Given the description of an element on the screen output the (x, y) to click on. 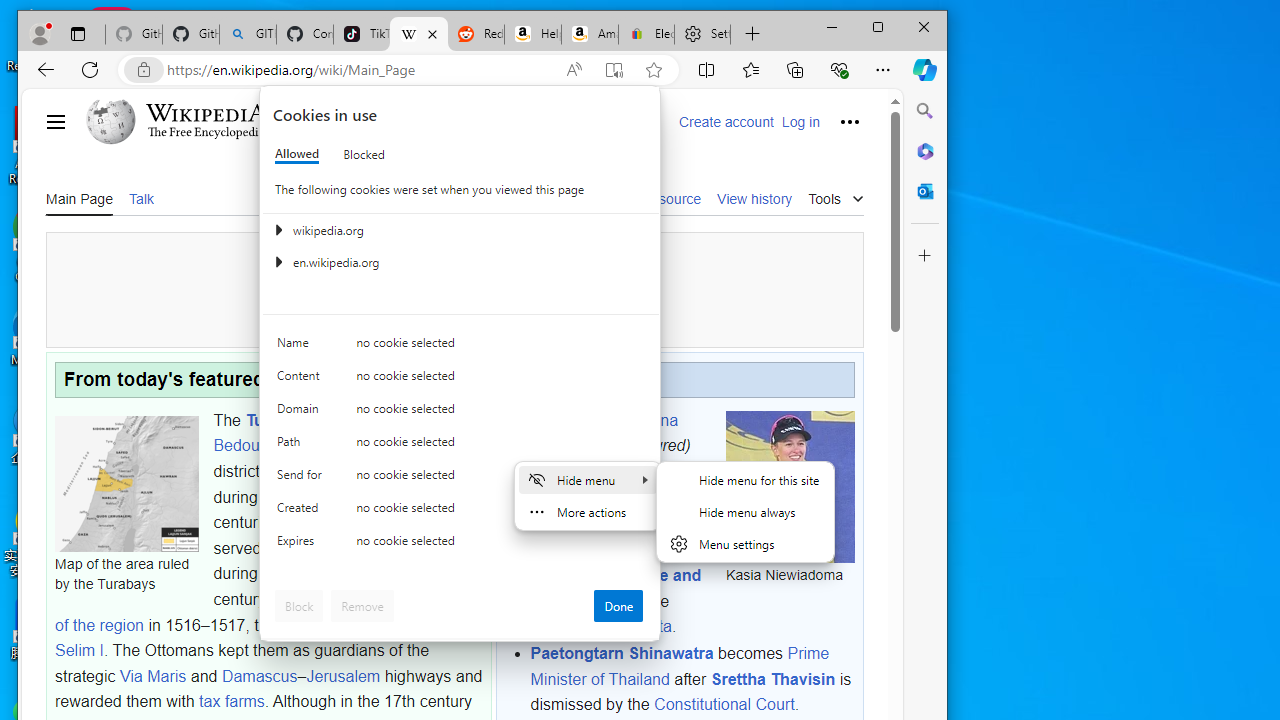
Mini menu on text selection (587, 507)
Remove (362, 605)
no cookie selected (500, 544)
Hide menu (745, 512)
Mini menu on text selection (587, 495)
Hide menu (587, 479)
Hide menu always (745, 511)
Content (302, 380)
Menu settings (745, 543)
